Given the description of an element on the screen output the (x, y) to click on. 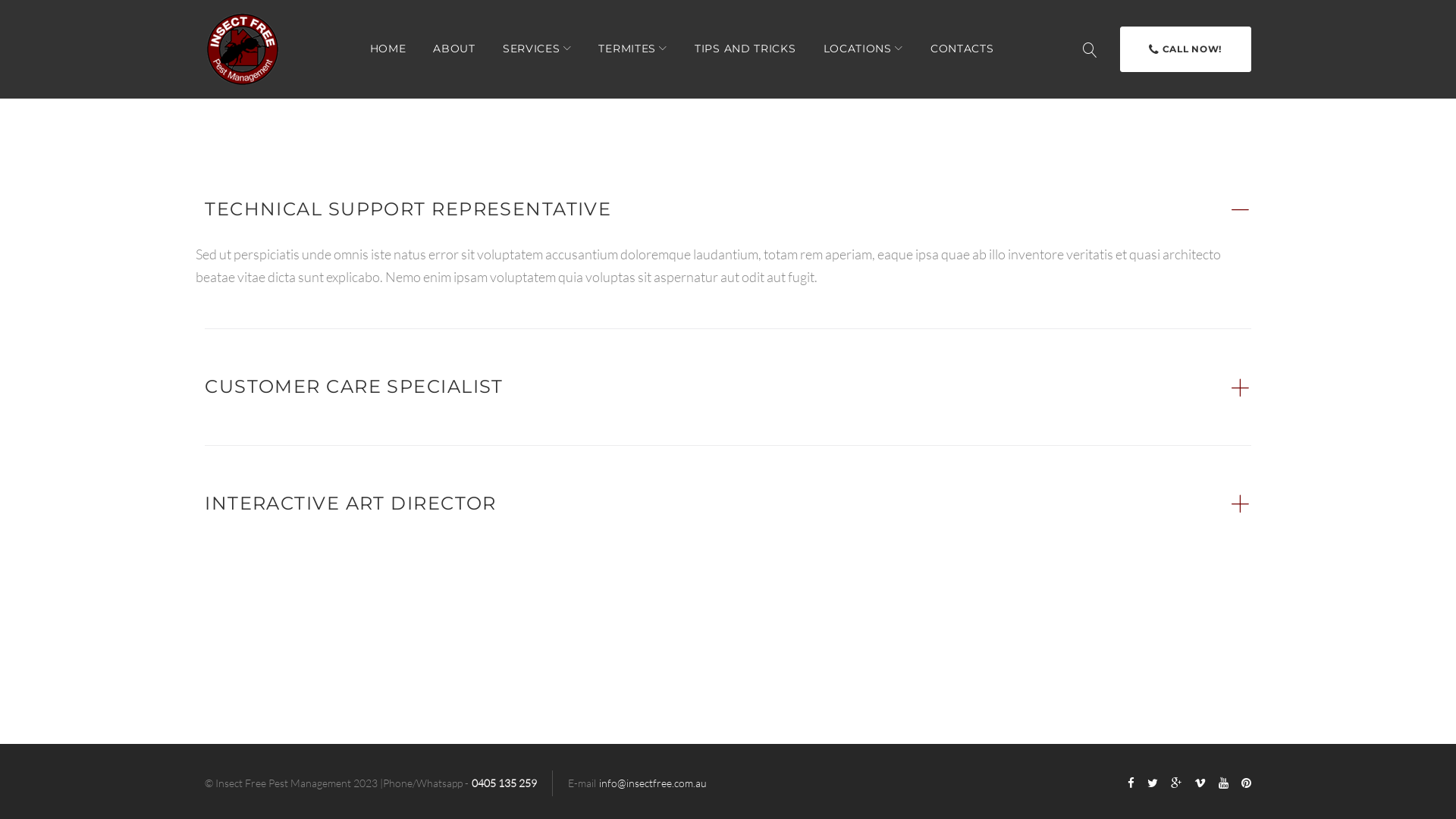
Google+ Element type: text (1175, 783)
LOCATIONS Element type: text (863, 48)
HOME Element type: text (388, 48)
info@insectfree.com.au Element type: text (652, 783)
SERVICES Element type: text (536, 48)
TERMITES Element type: text (632, 48)
Vimeo Element type: text (1199, 783)
CONTACTS Element type: text (962, 48)
YouTube Element type: text (1223, 783)
TIPS AND TRICKS Element type: text (745, 48)
ABOUT Element type: text (454, 48)
Twitter Element type: text (1152, 783)
Pinterest Element type: text (1246, 783)
CALL NOW! Element type: text (1185, 49)
0405 135 259 Element type: text (503, 783)
Facebook Element type: text (1130, 783)
